Given the description of an element on the screen output the (x, y) to click on. 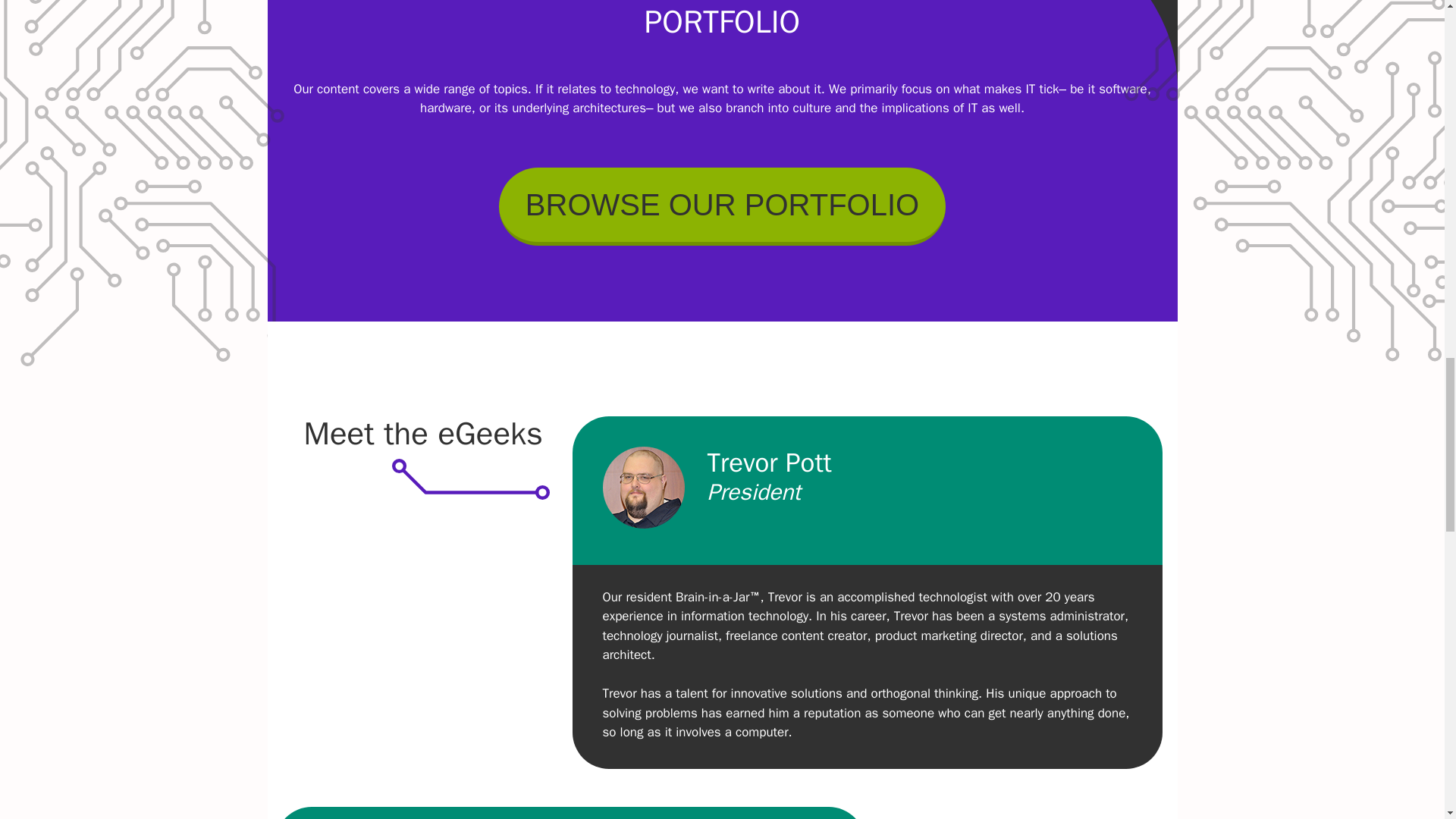
BROWSE OUR PORTFOLIO (721, 206)
